Given the description of an element on the screen output the (x, y) to click on. 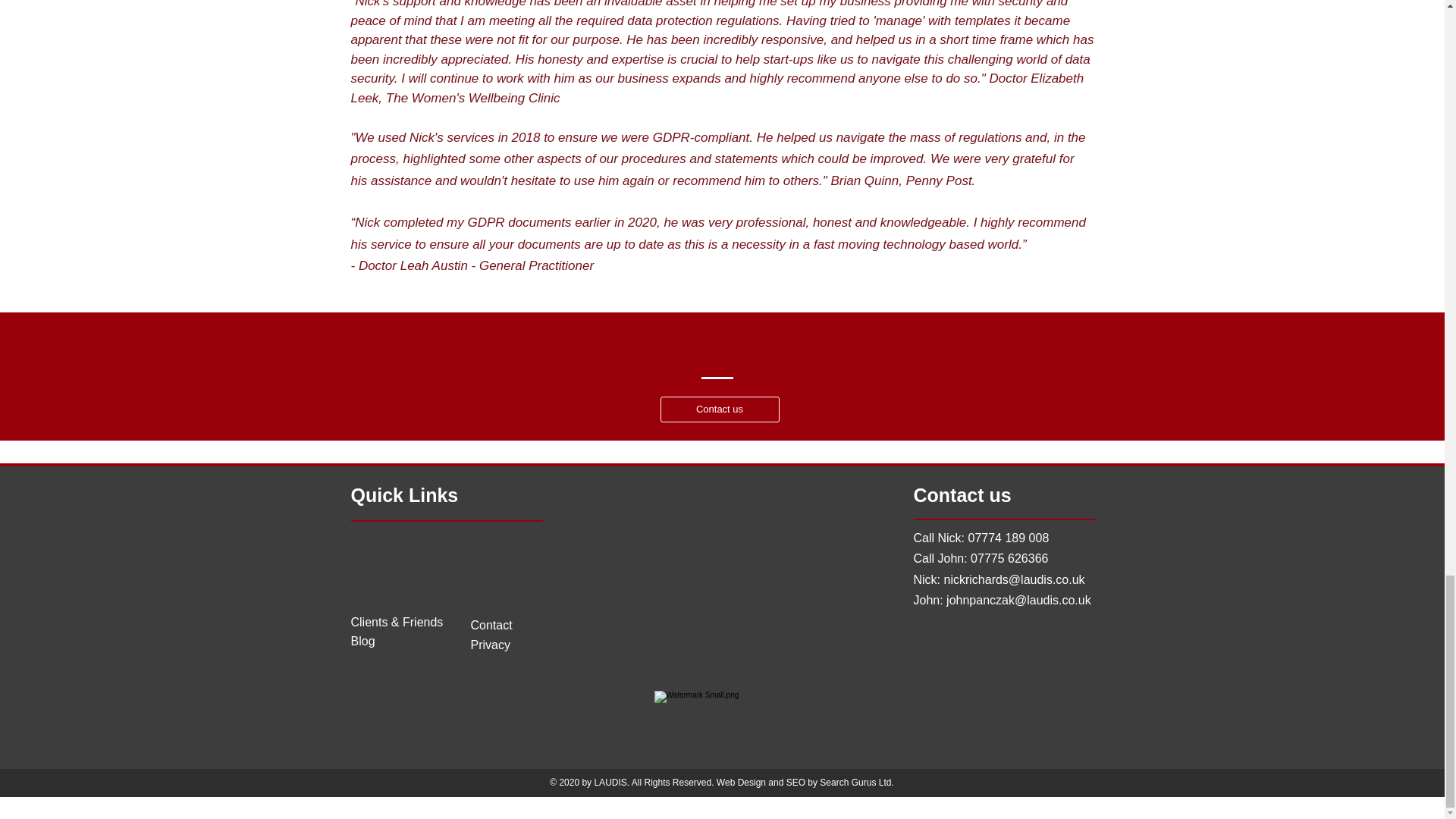
Call John: 07775 626366 (980, 558)
Privacy (489, 644)
Contact us (718, 409)
Contact (491, 625)
Call Nick: 07774 189 008 (980, 537)
Blog (362, 640)
